Given the description of an element on the screen output the (x, y) to click on. 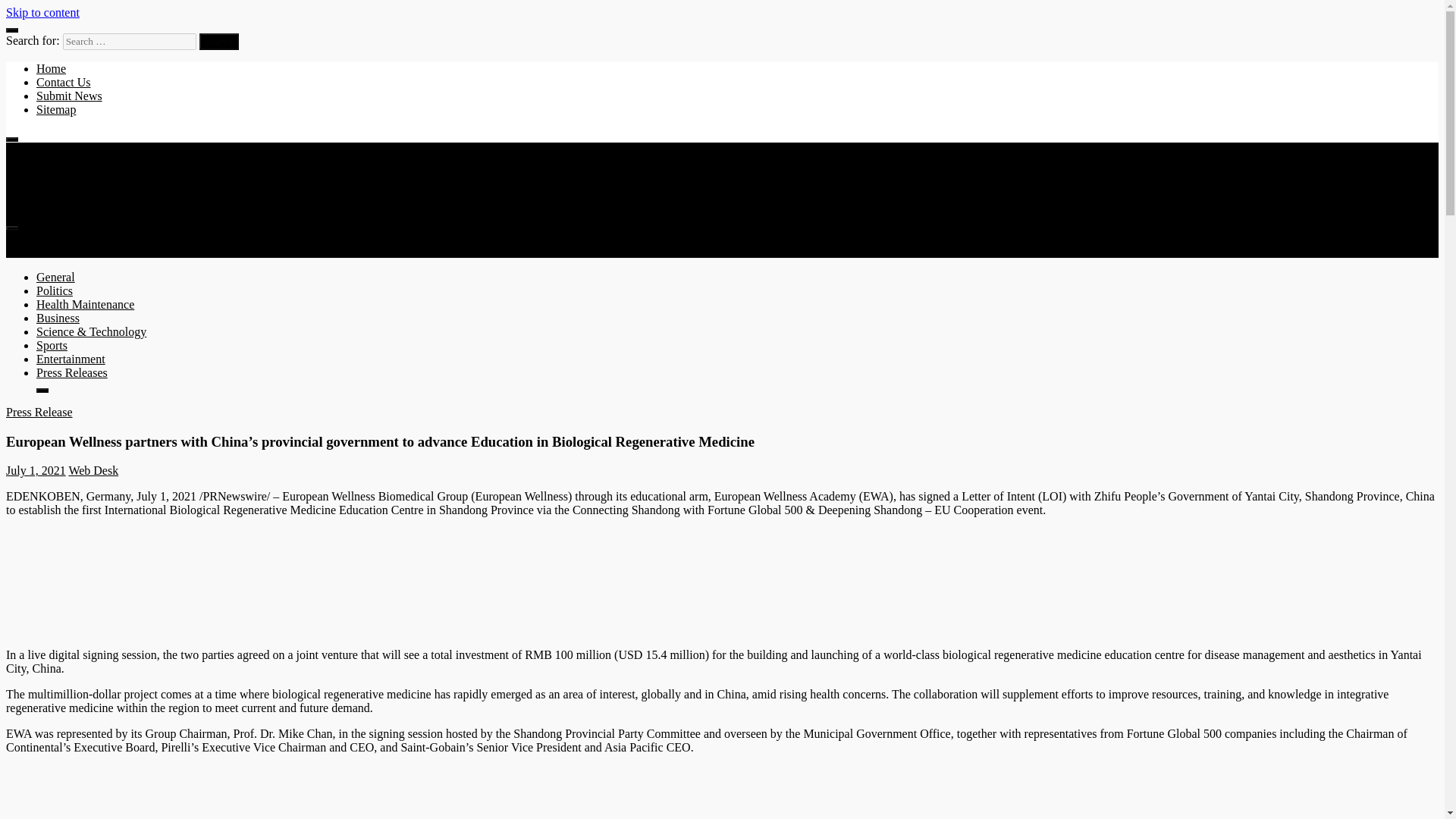
Skip to content (42, 11)
Health Maintenance (84, 304)
Submit News (68, 95)
Somalia News Gazette (60, 236)
Press Release (38, 411)
Home (50, 68)
Sports (51, 345)
Search (218, 41)
Sitemap (55, 109)
